Given the description of an element on the screen output the (x, y) to click on. 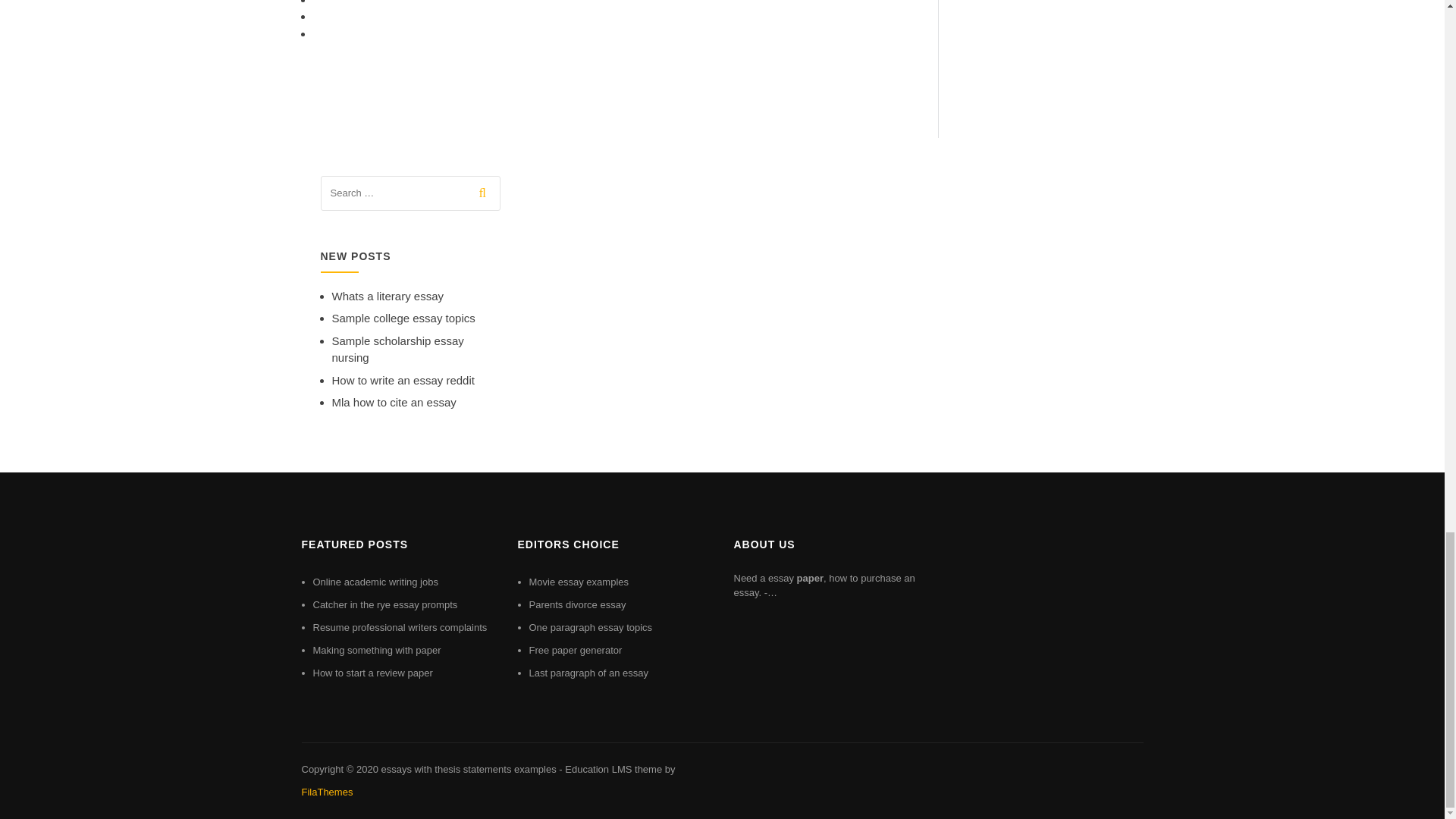
Parents divorce essay (577, 604)
Making something with paper (377, 650)
essays with thesis statements examples (468, 768)
Mla how to cite an essay (394, 401)
Movie essay examples (578, 582)
One paragraph essay topics (590, 627)
Resume professional writers complaints (399, 627)
Catcher in the rye essay prompts (385, 604)
essays with thesis statements examples (468, 768)
Free paper generator (576, 650)
Sample scholarship essay nursing (397, 349)
Online academic writing jobs (375, 582)
How to write an essay reddit (402, 379)
Sample college essay topics (403, 318)
Whats a literary essay (387, 295)
